Given the description of an element on the screen output the (x, y) to click on. 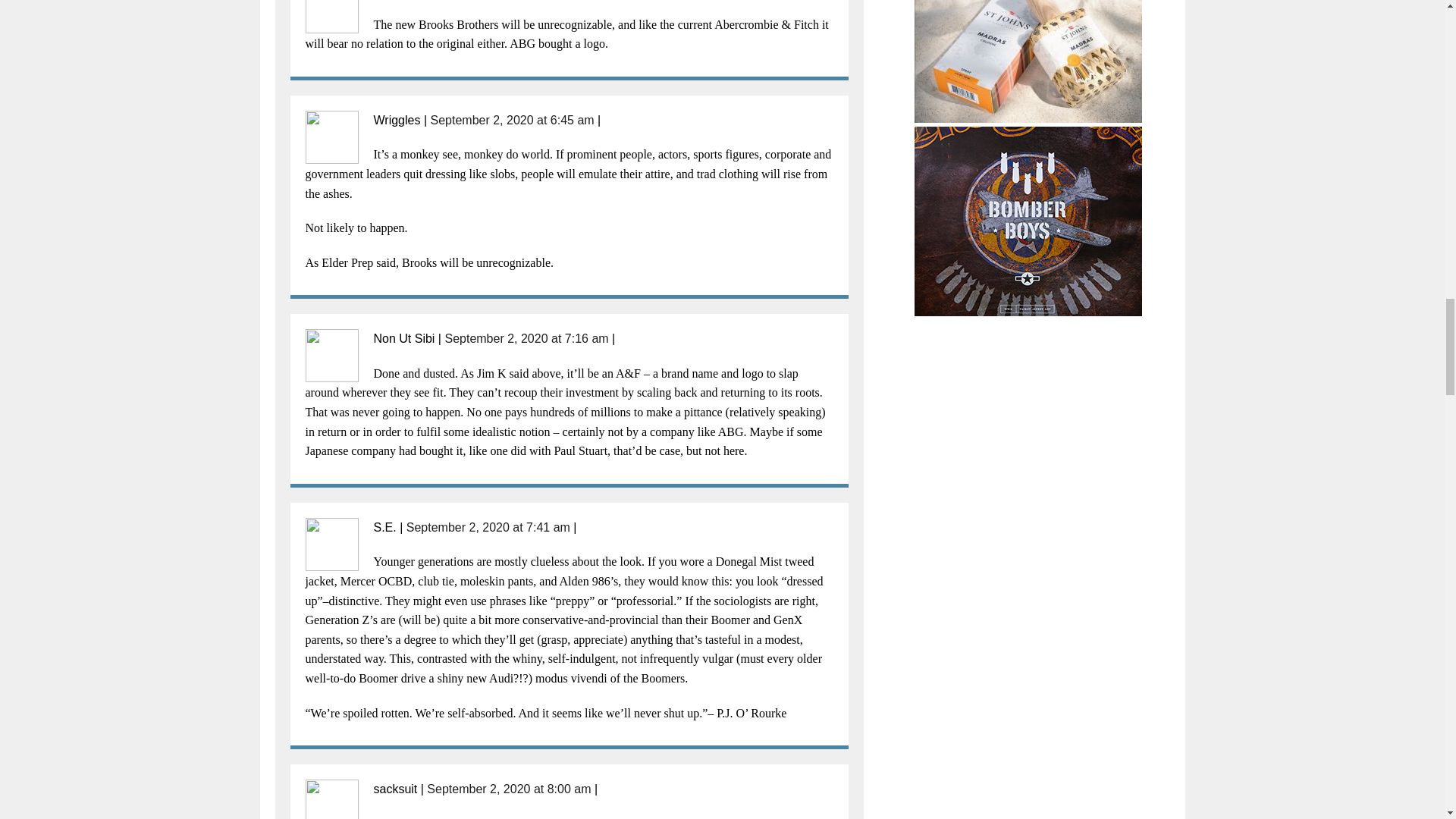
September 2, 2020 at 6:45 am (512, 119)
September 2, 2020 at 7:16 am (526, 338)
September 2, 2020 at 7:41 am (488, 526)
September 2, 2020 at 8:00 am (508, 788)
